Given the description of an element on the screen output the (x, y) to click on. 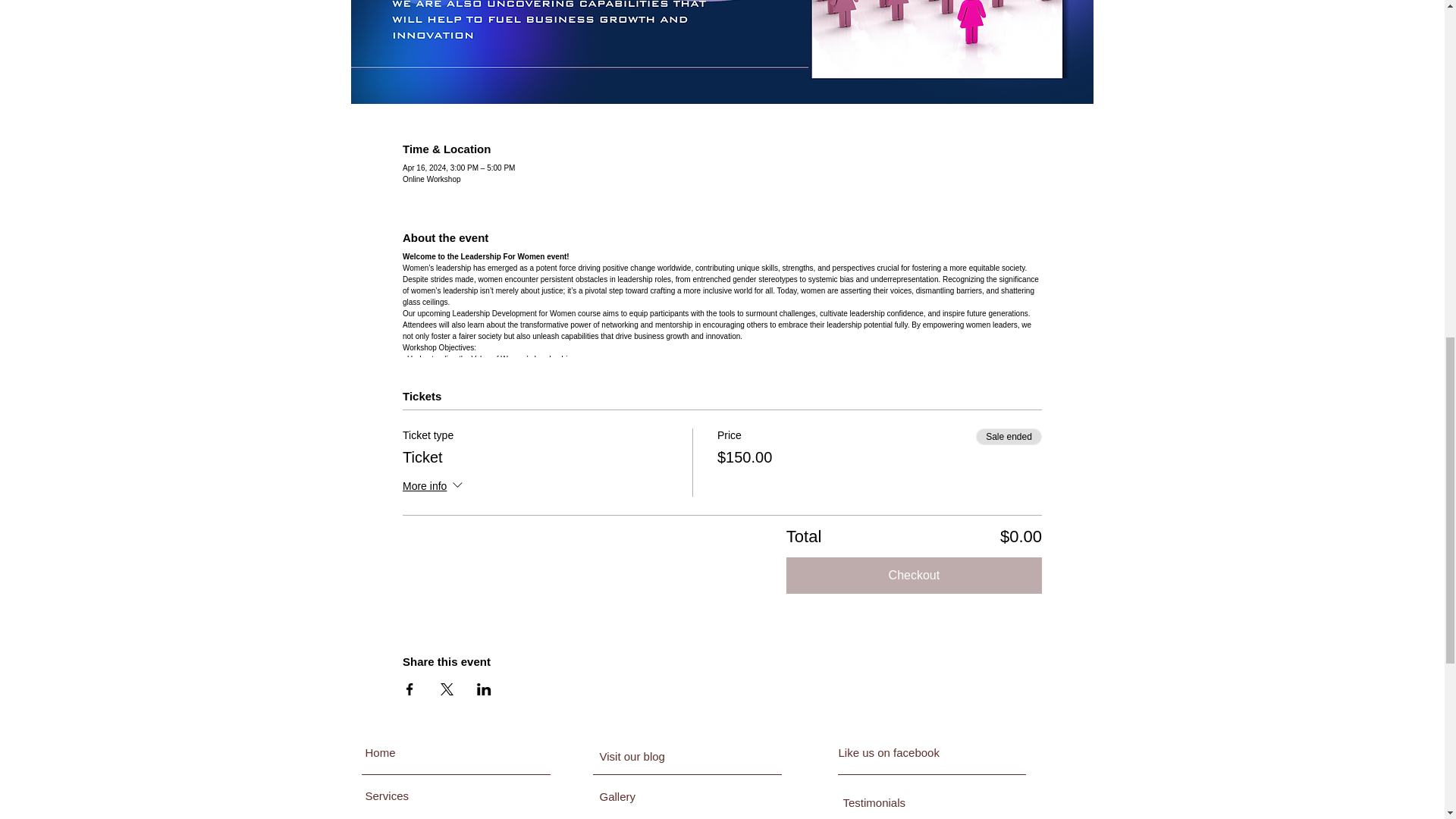
Gallery (641, 795)
Like us on facebook (906, 752)
Services (422, 795)
More info (434, 486)
Testimonials (906, 802)
Home (430, 752)
Checkout (914, 575)
Visit our blog (665, 756)
